Given the description of an element on the screen output the (x, y) to click on. 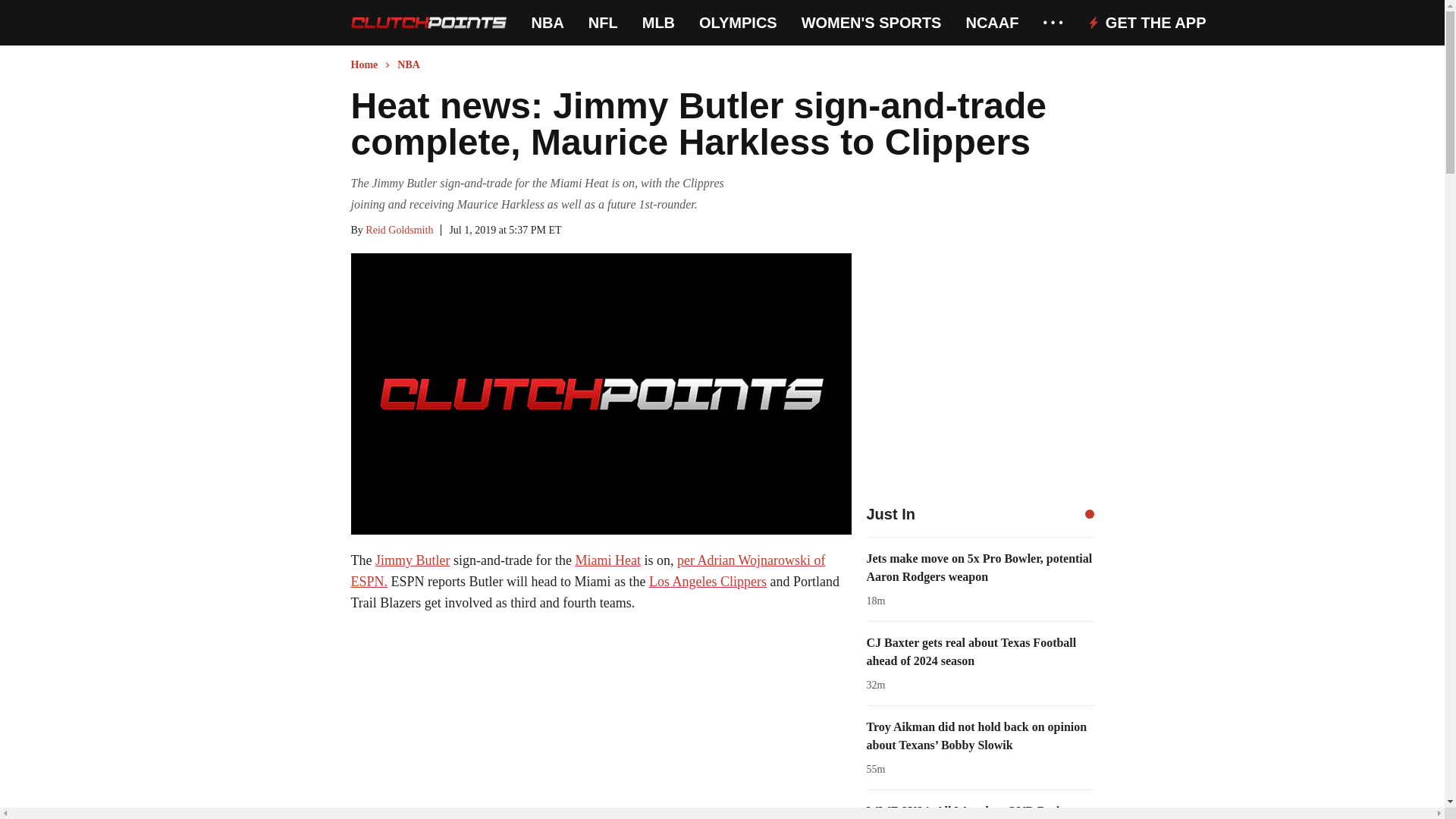
NFL (602, 22)
NBA (547, 22)
NBA (547, 22)
NFL (602, 22)
MLB (658, 22)
